Given the description of an element on the screen output the (x, y) to click on. 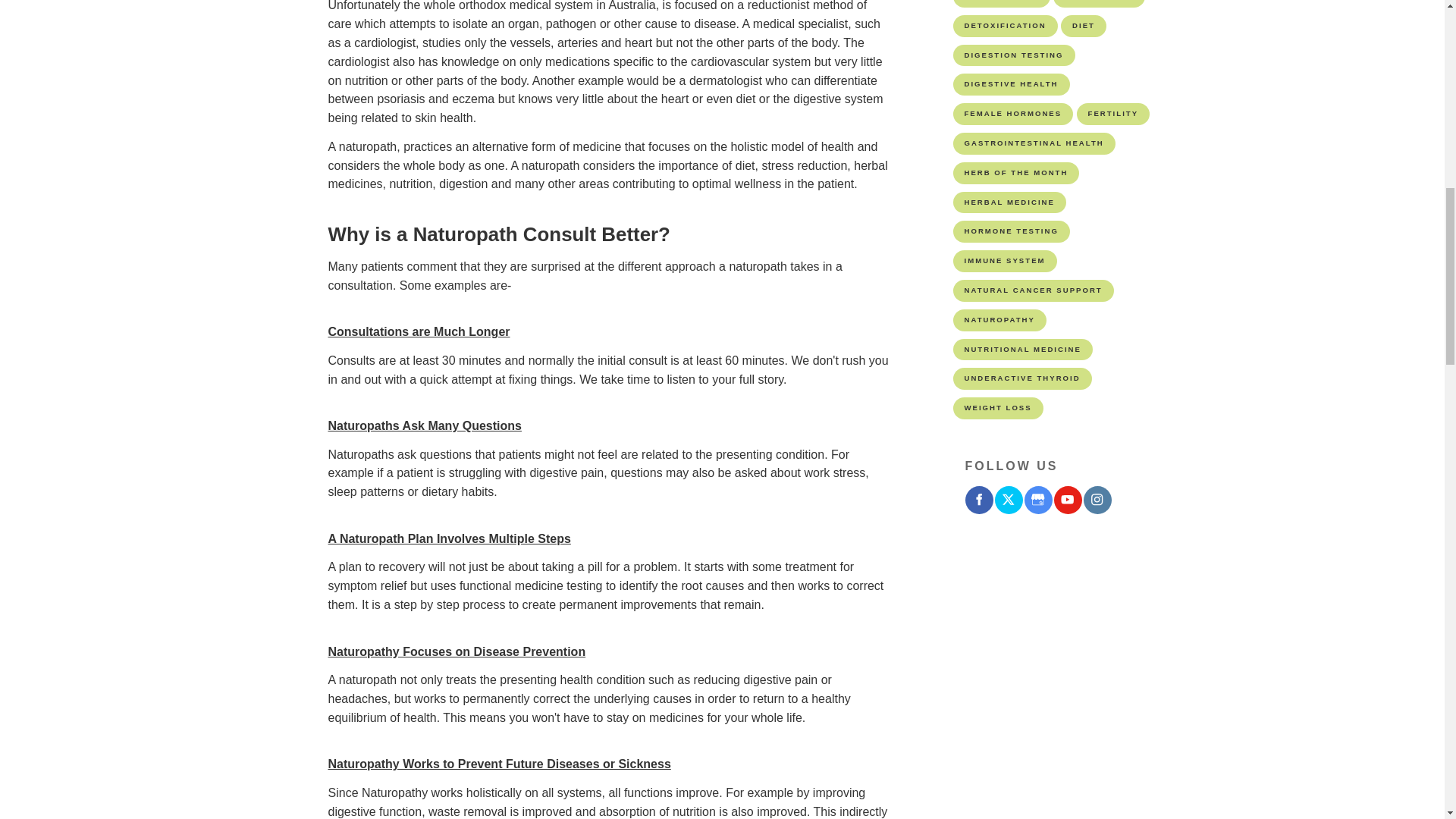
Instagram (1096, 500)
Youtube (1067, 500)
Google My Business (1037, 500)
Facebook (977, 500)
